Given the description of an element on the screen output the (x, y) to click on. 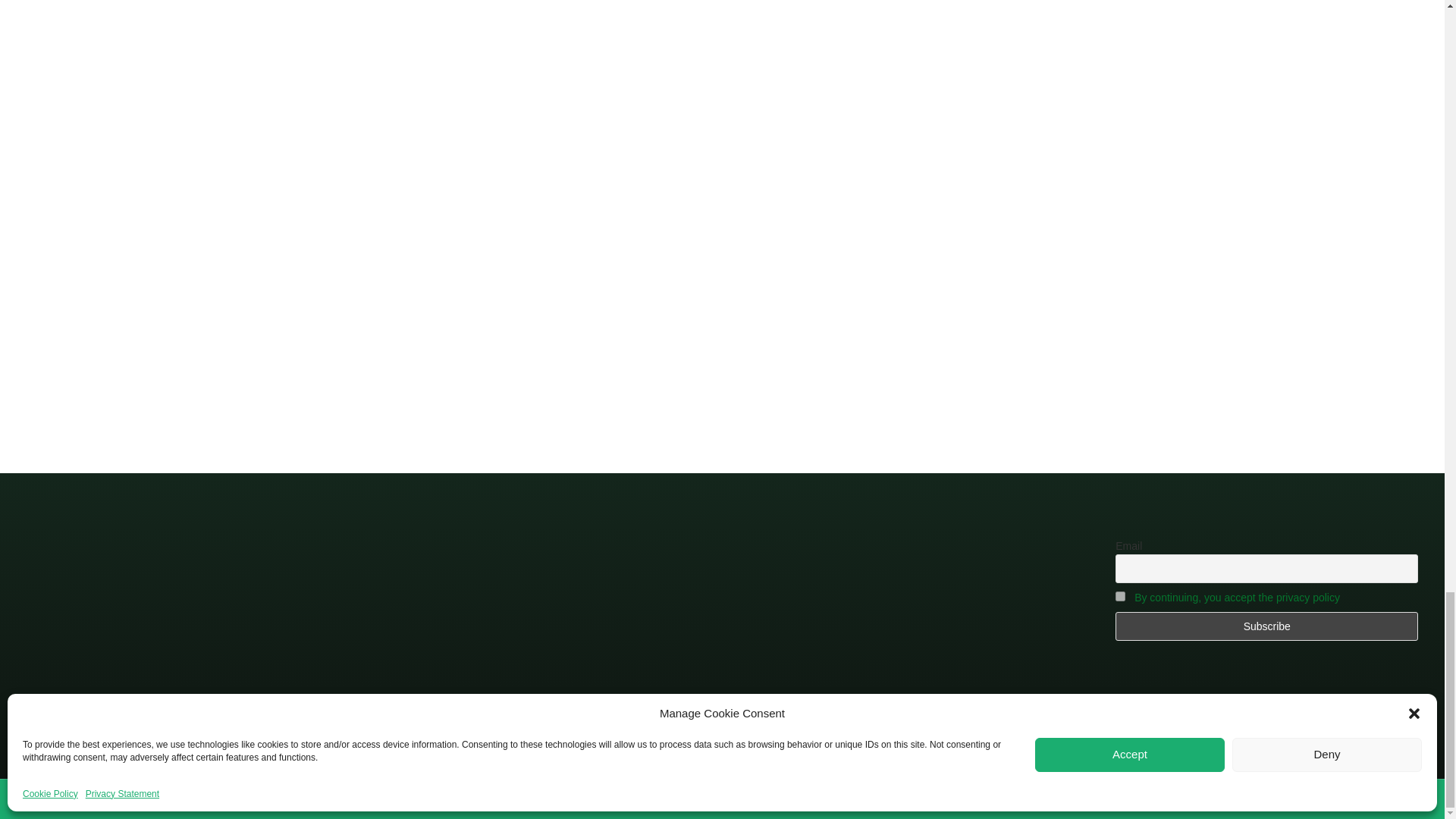
Italian (1148, 798)
English (1054, 795)
Subscribe (1266, 625)
on (1120, 596)
